Given the description of an element on the screen output the (x, y) to click on. 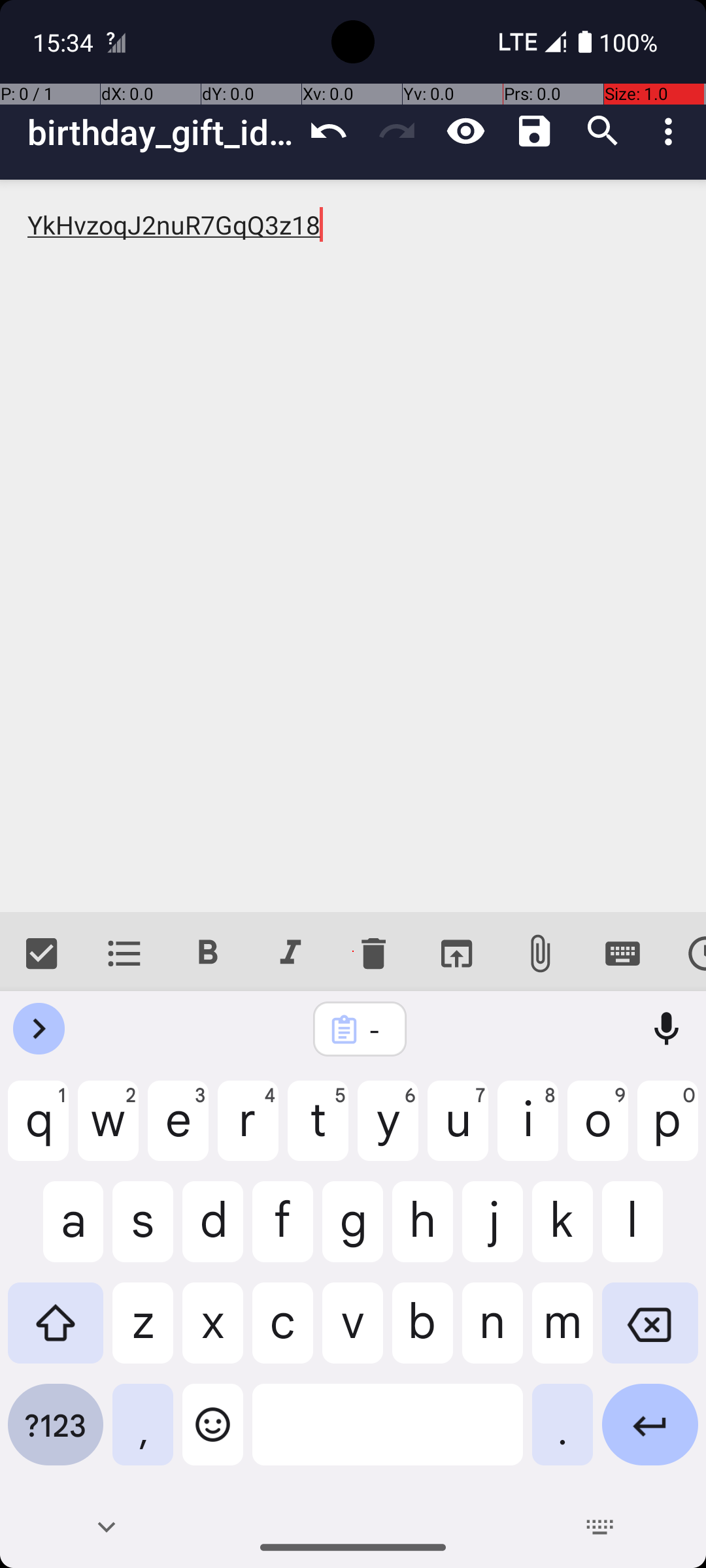
birthday_gift_ideas_mom_final Element type: android.widget.TextView (160, 131)
YkHvzoqJ2nuR7GqQ3z18 Element type: android.widget.EditText (353, 545)
-  Element type: android.widget.TextView (376, 1029)
